Given the description of an element on the screen output the (x, y) to click on. 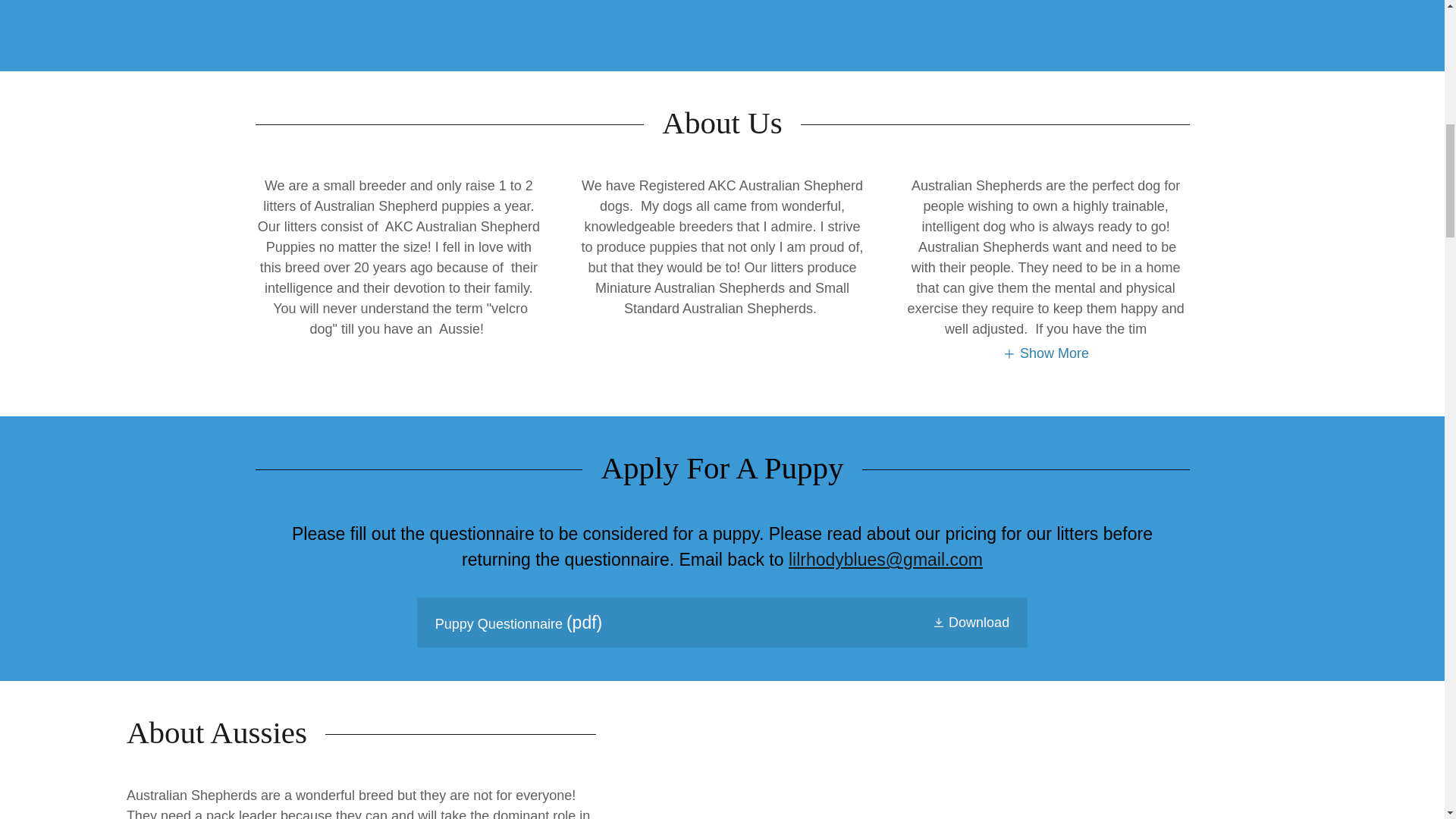
Show More (1046, 353)
ACCEPT (1345, 324)
DECLINE (1203, 324)
